Given the description of an element on the screen output the (x, y) to click on. 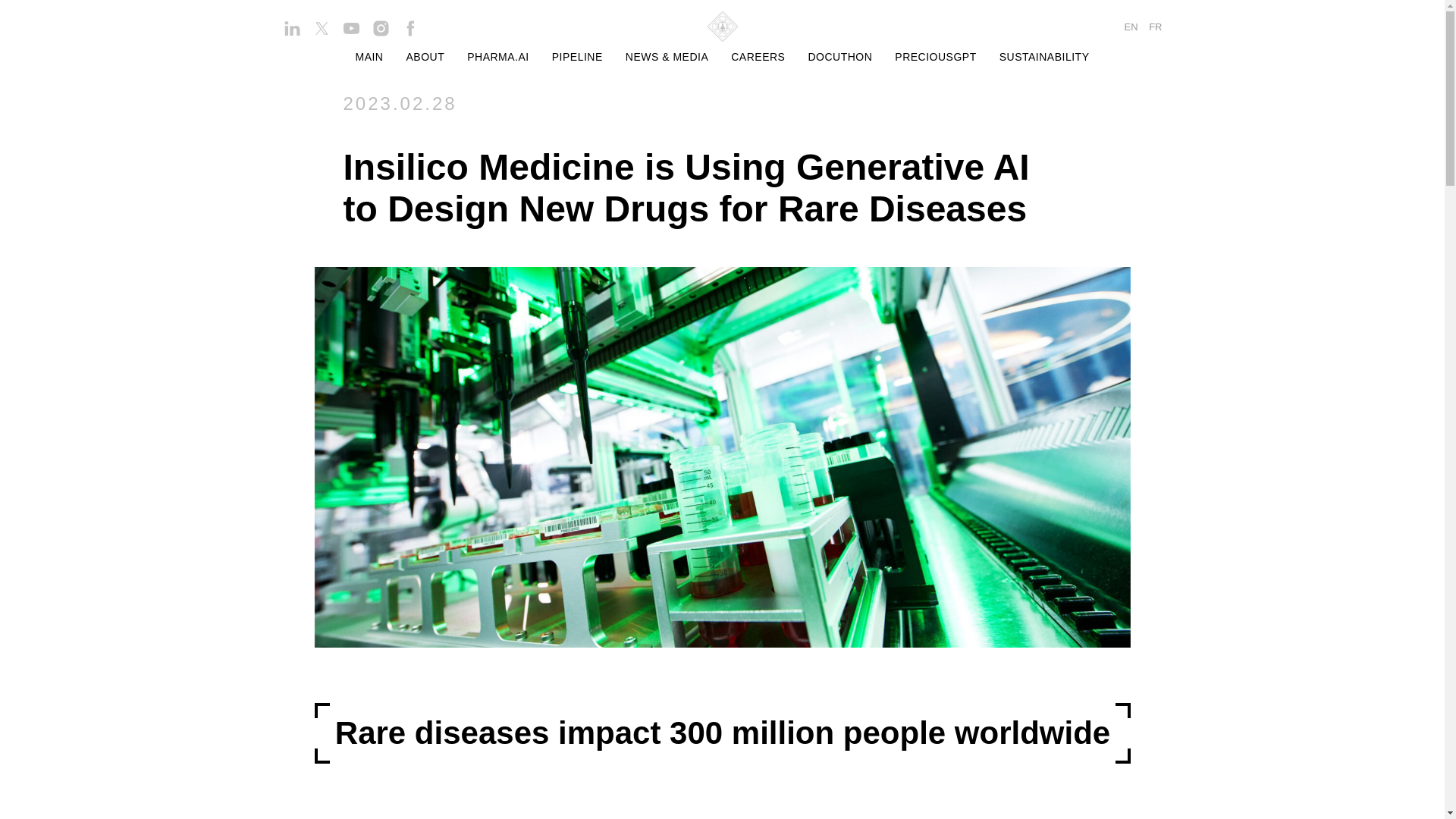
ABOUT (425, 56)
MAIN (368, 56)
FR (1154, 26)
EN (1131, 26)
